Given the description of an element on the screen output the (x, y) to click on. 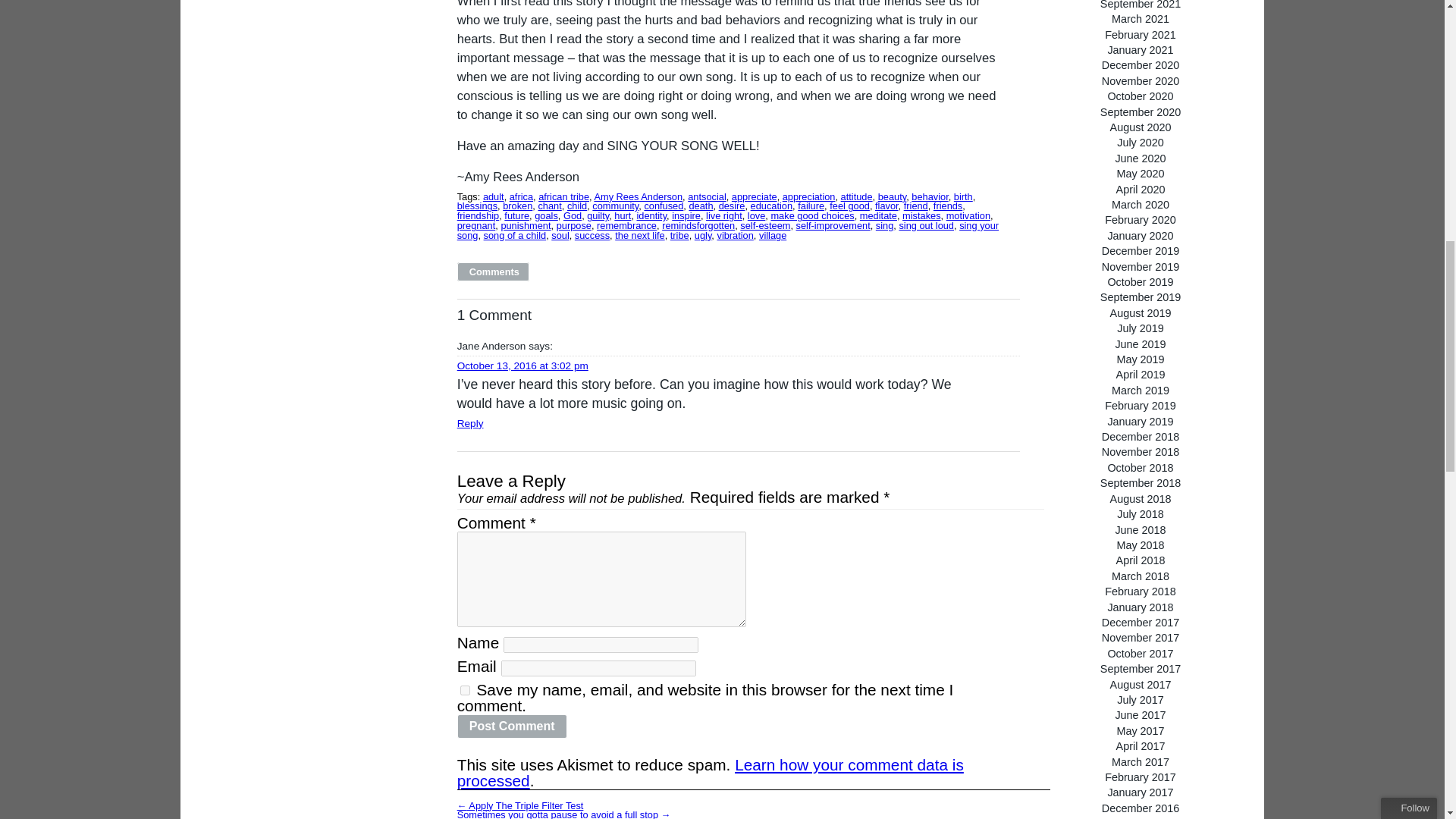
Enter email address (1349, 131)
birth (962, 196)
africa (520, 196)
adult (493, 196)
behavior (929, 196)
chant (548, 205)
Post Comment (512, 726)
attitude (856, 196)
Amy Rees Anderson (638, 196)
blessings (477, 205)
community (615, 205)
beauty (891, 196)
antsocial (706, 196)
appreciation (809, 196)
african tribe (563, 196)
